Given the description of an element on the screen output the (x, y) to click on. 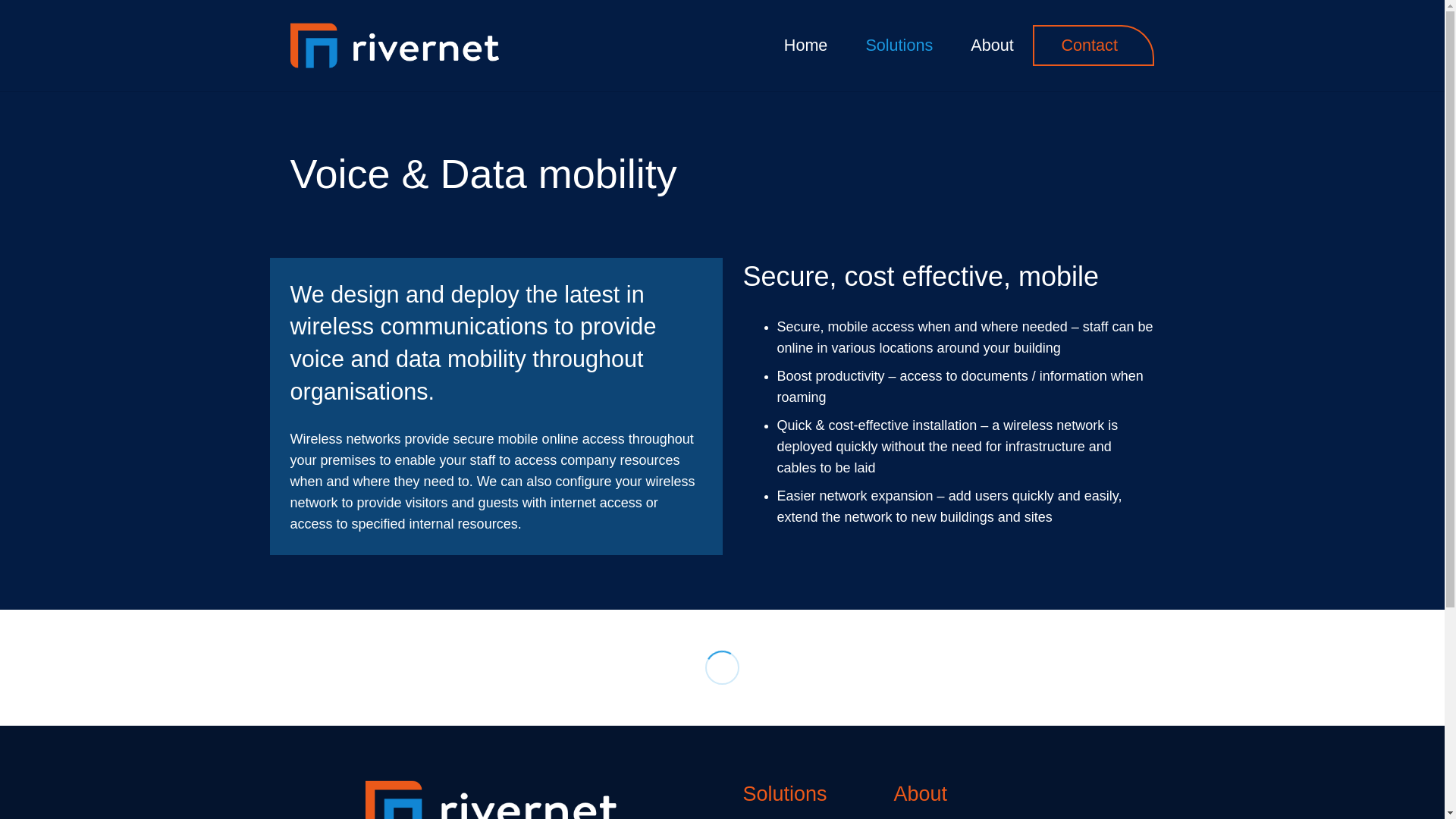
Contact (1088, 45)
Home (806, 45)
About (992, 45)
Solutions (898, 45)
